Given the description of an element on the screen output the (x, y) to click on. 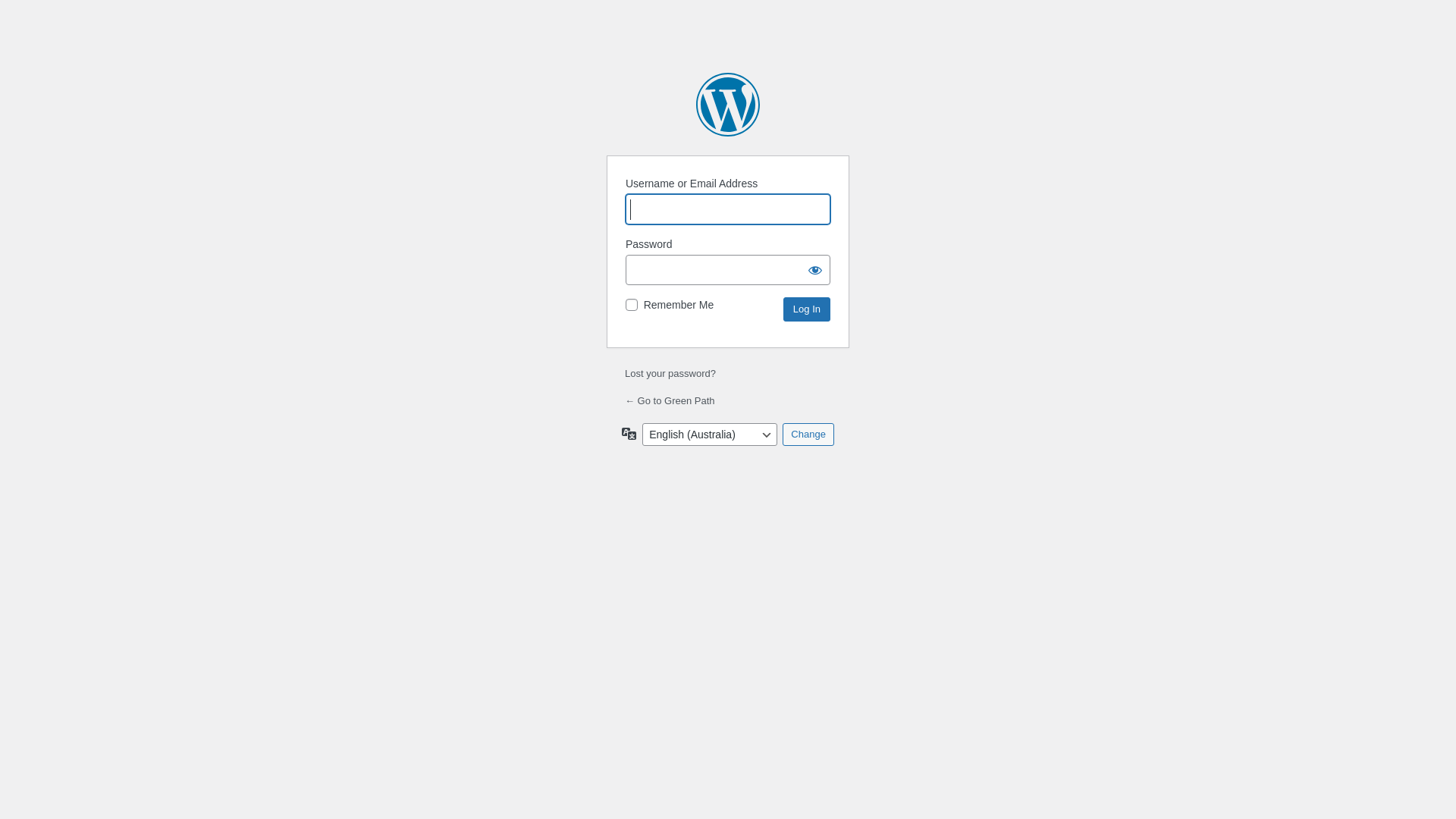
Log In Element type: text (806, 309)
Powered by WordPress Element type: text (727, 104)
Change Element type: text (808, 434)
Lost your password? Element type: text (669, 373)
